Given the description of an element on the screen output the (x, y) to click on. 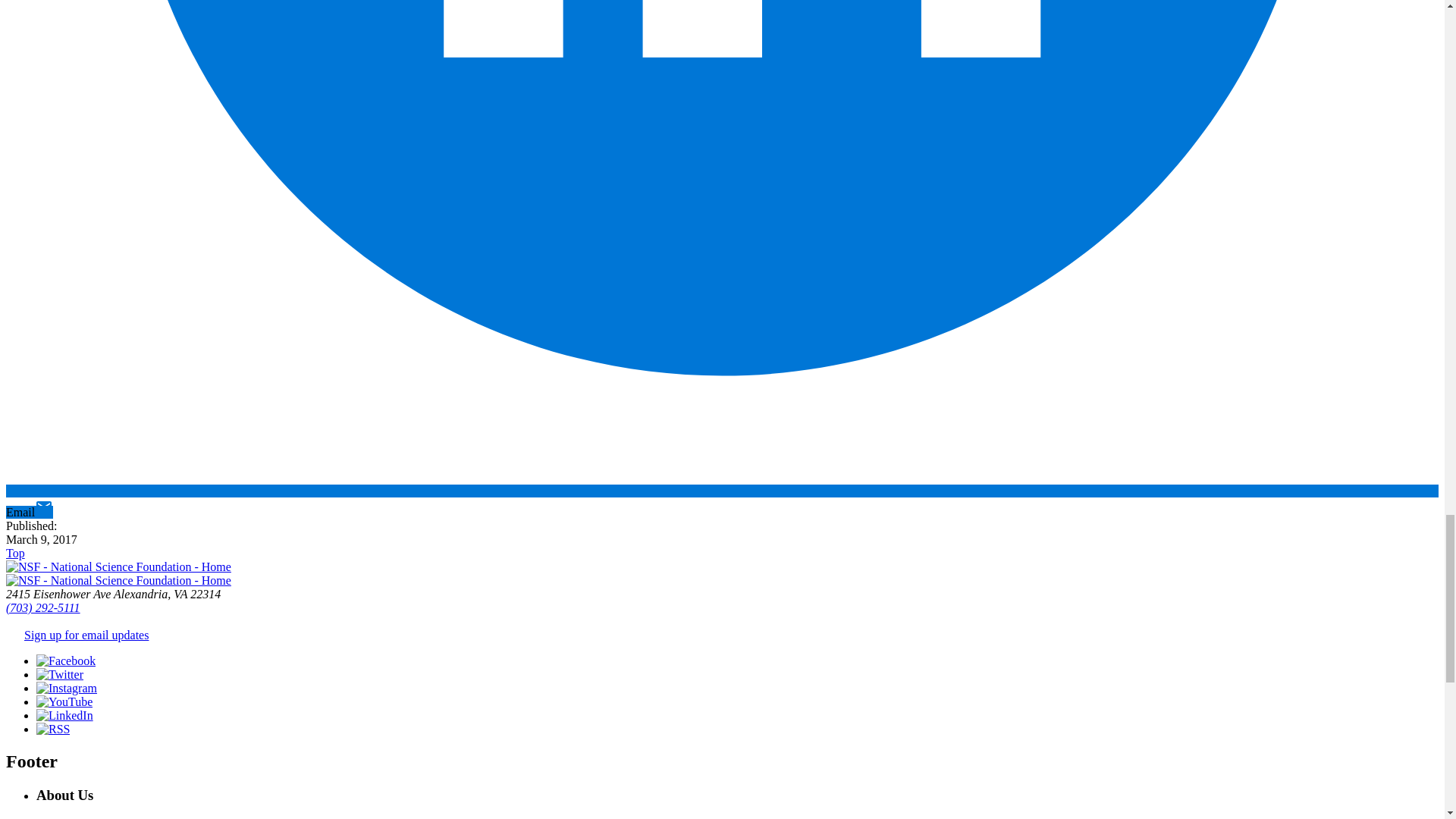
Top (14, 553)
Sign up for email updates (86, 634)
Email (28, 512)
About NSF (94, 818)
